Given the description of an element on the screen output the (x, y) to click on. 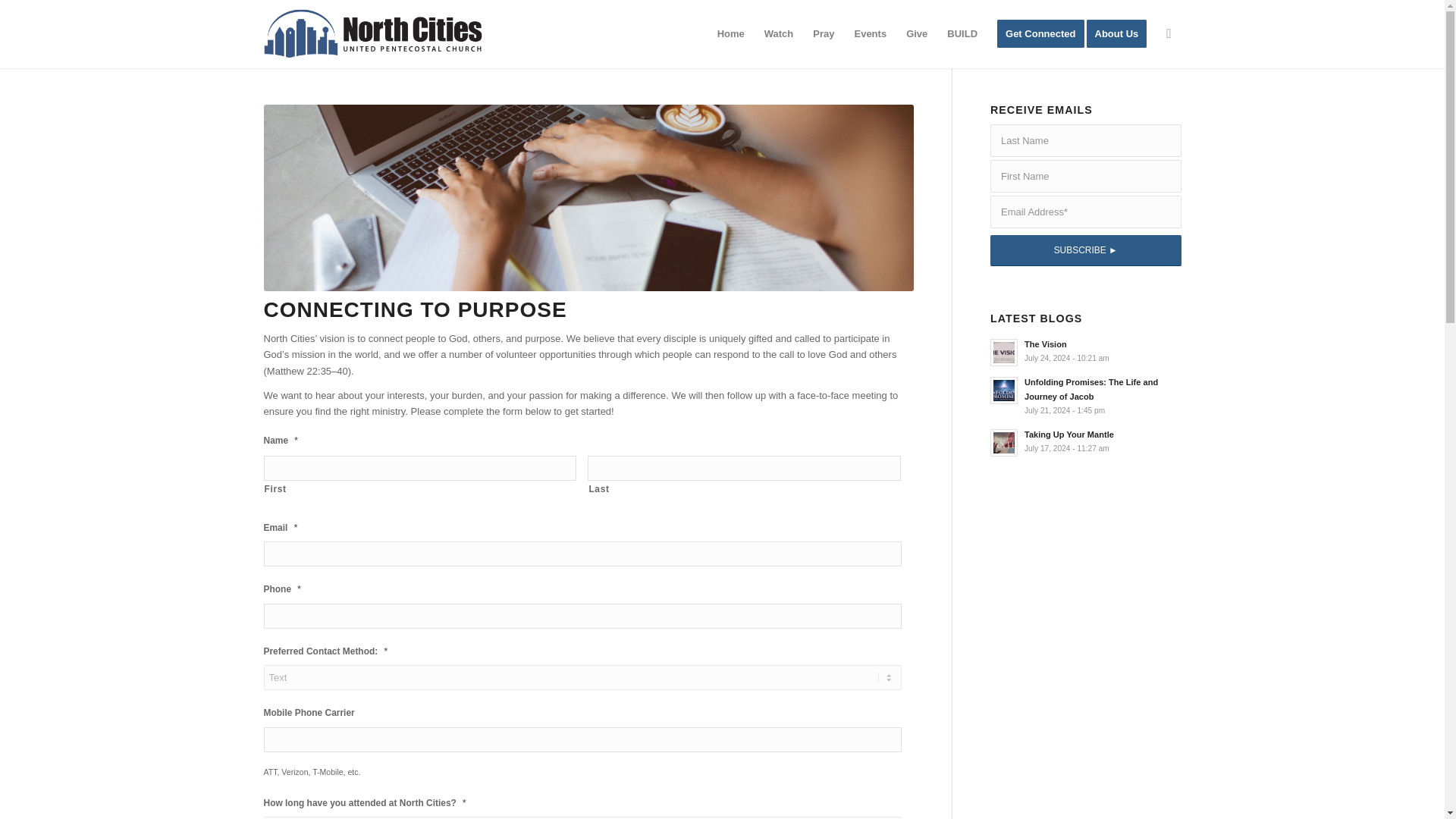
Unfolding Promises: The Life and Journey of Jacob (1085, 395)
Get Connected (1040, 33)
nc-web-logo-wide (372, 33)
About Us (1085, 350)
photo-1477453559950-e541fa922120 (1121, 33)
Taking Up Your Mantle (1085, 440)
The Vision (588, 197)
